Given the description of an element on the screen output the (x, y) to click on. 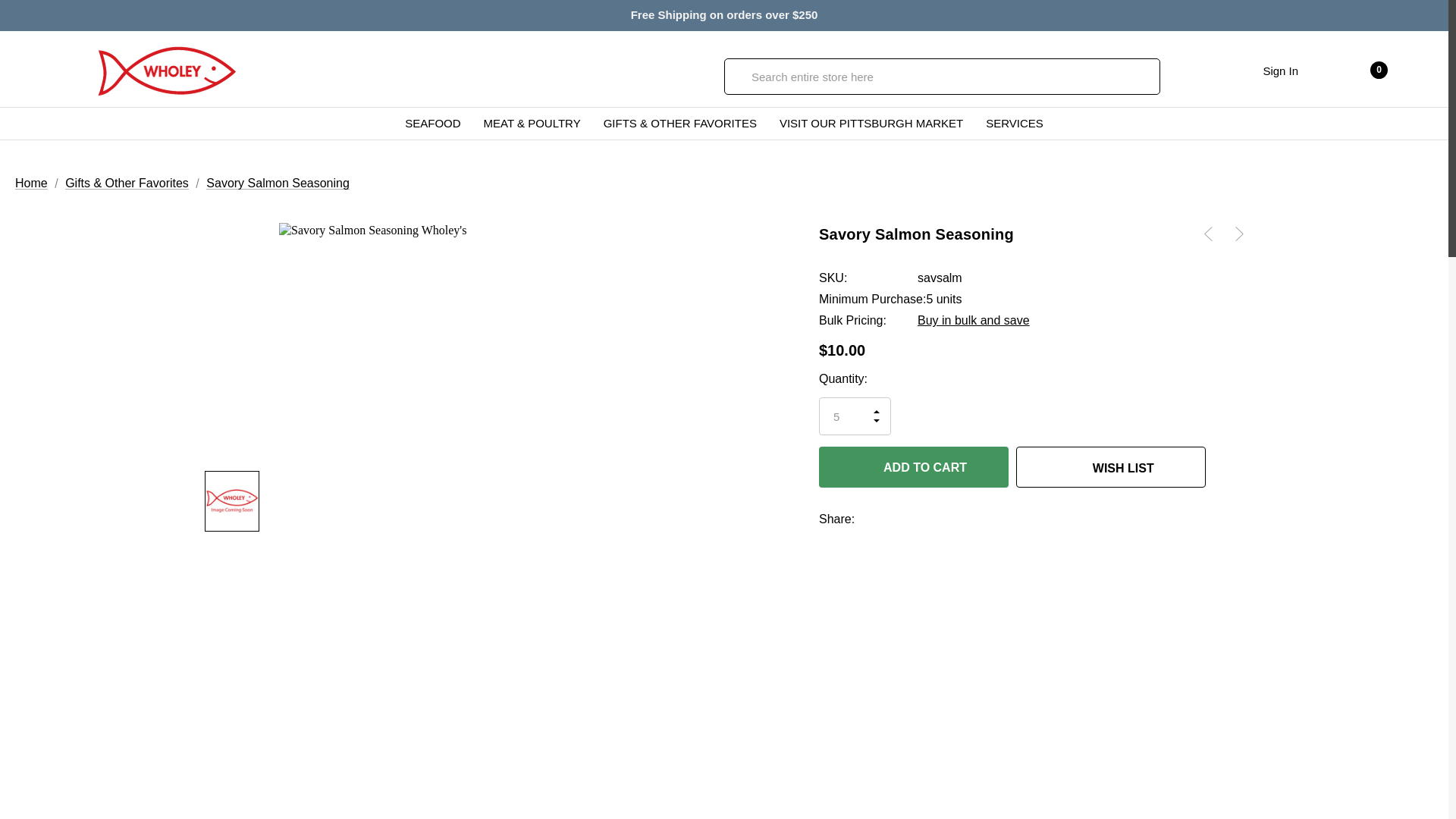
SEAFOOD (432, 123)
5 (854, 415)
0 (1362, 69)
Sign In (1280, 70)
Savory Salmon Seasoning Wholey's (232, 500)
Wholey's (166, 70)
